Given the description of an element on the screen output the (x, y) to click on. 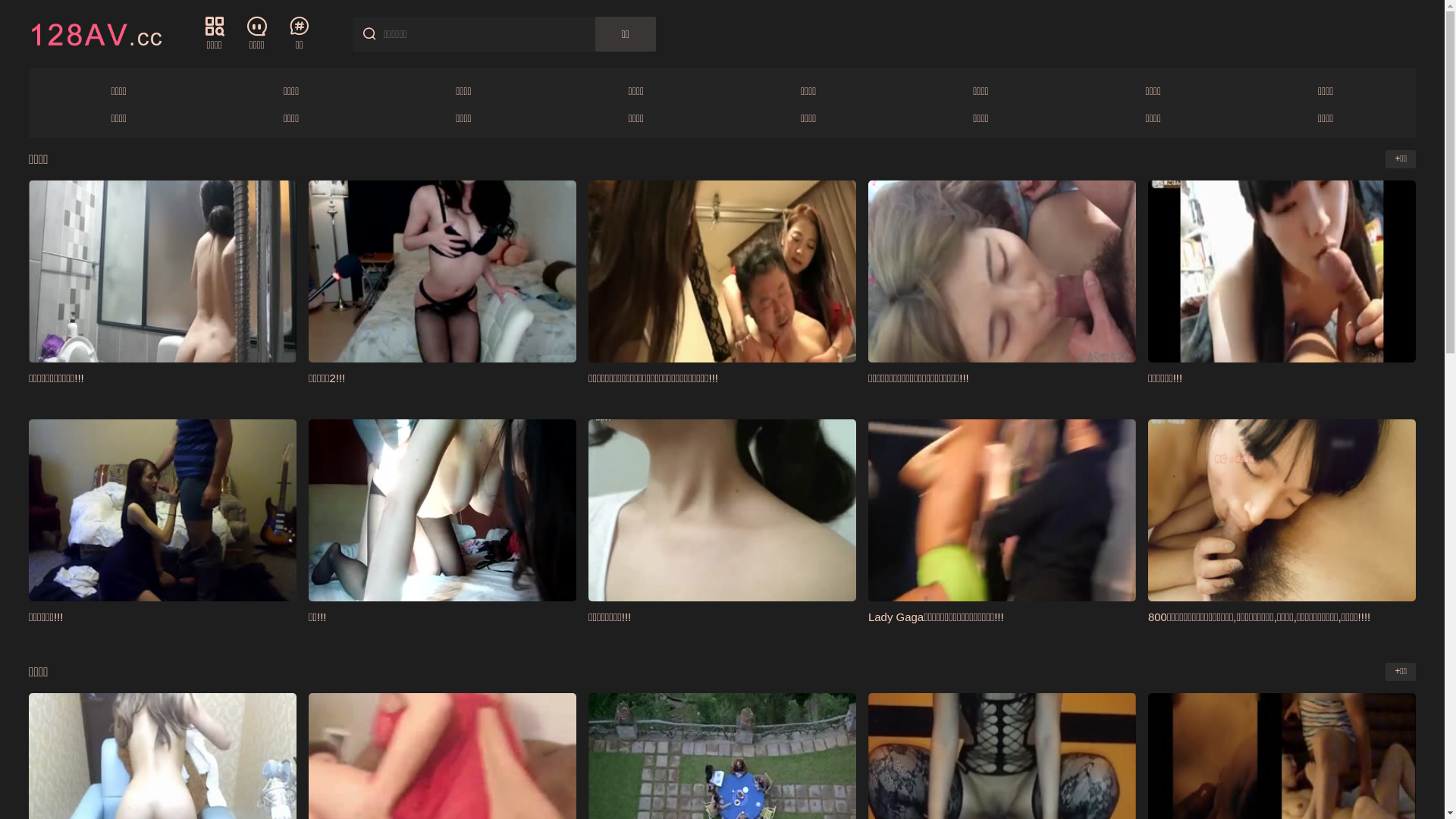
128AV Element type: hover (94, 33)
